Given the description of an element on the screen output the (x, y) to click on. 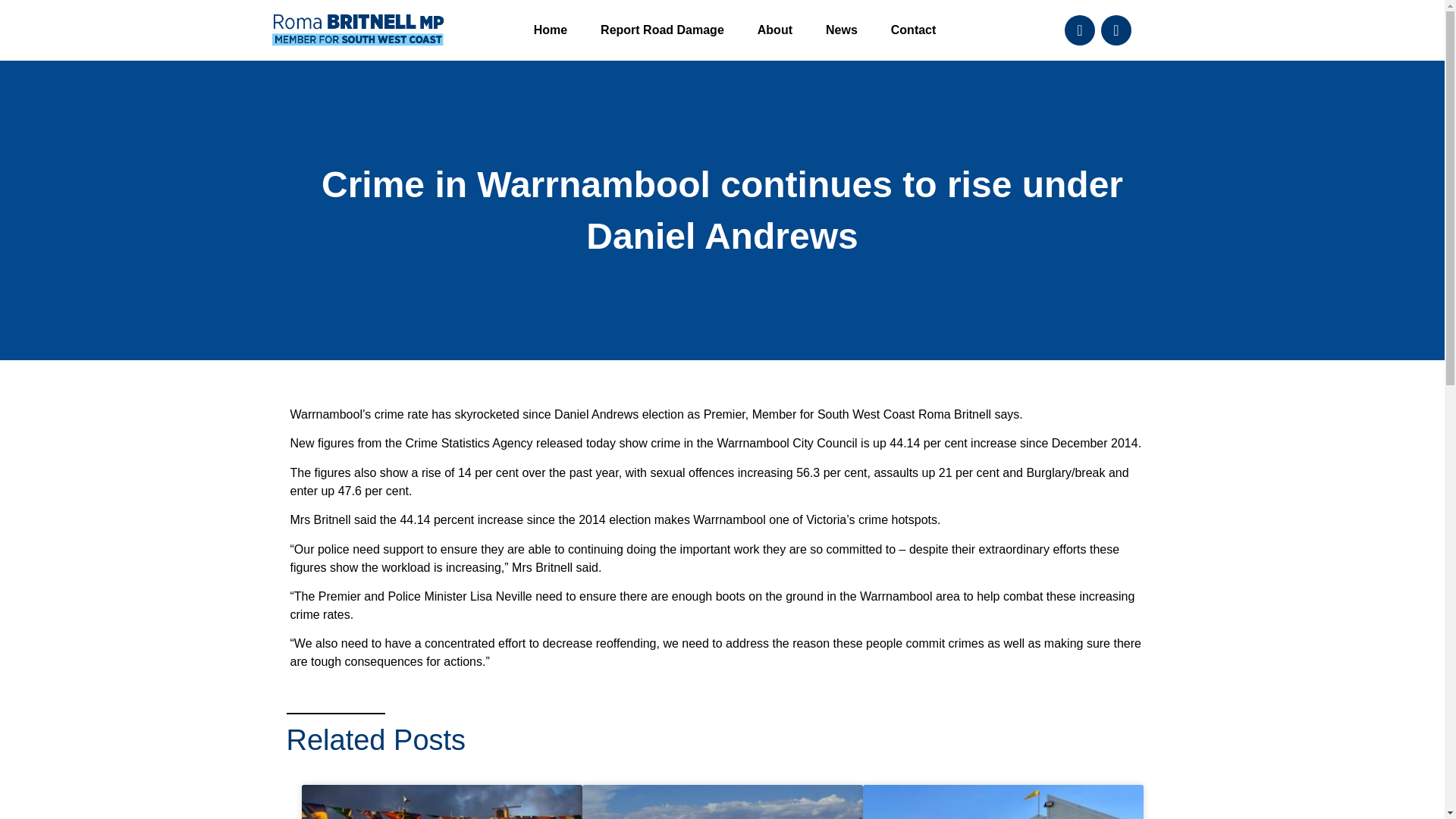
News (842, 30)
Home (549, 30)
About (775, 30)
Report Road Damage (662, 30)
Contact (914, 30)
